Given the description of an element on the screen output the (x, y) to click on. 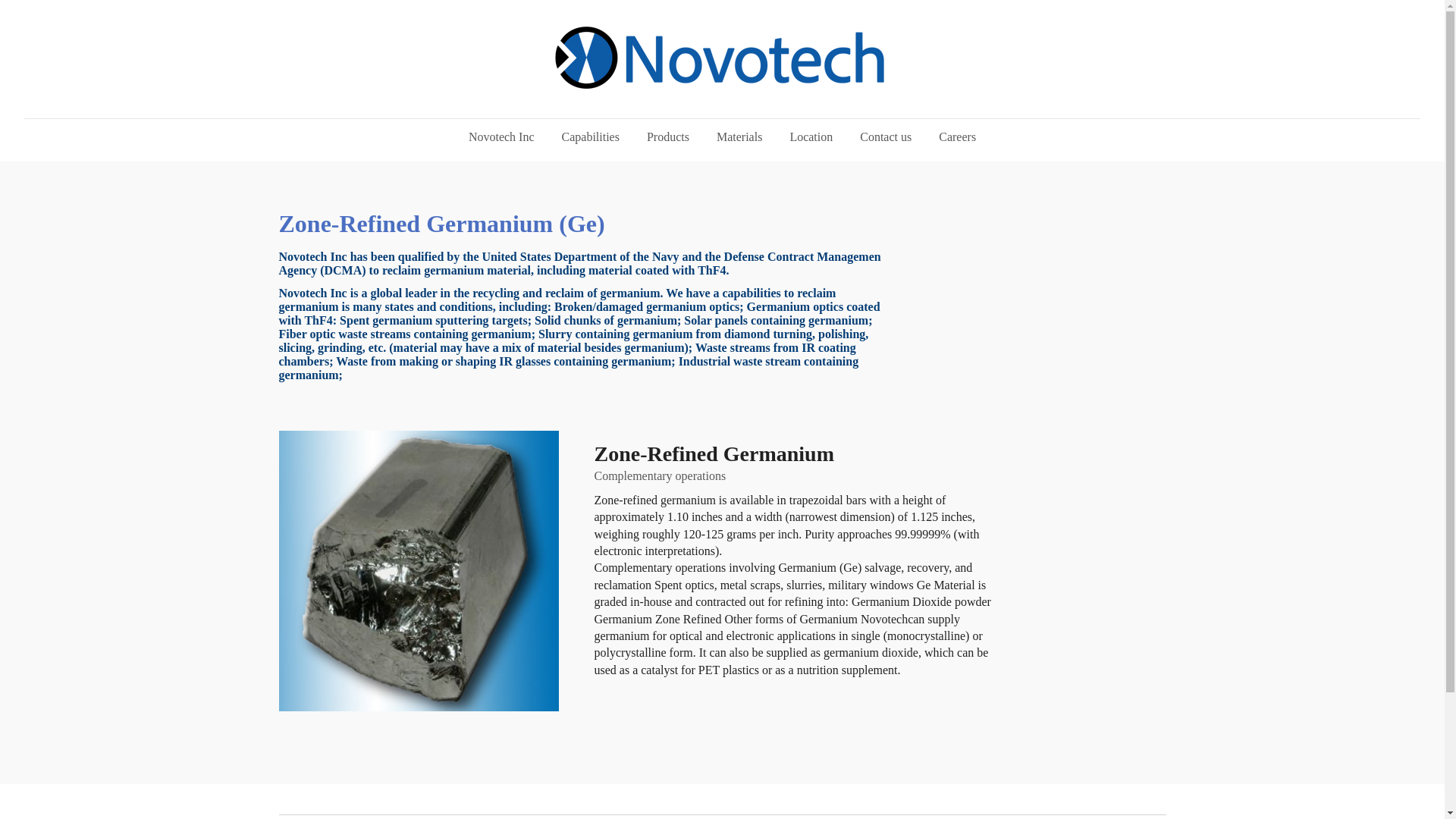
Contact us (885, 137)
Careers (957, 137)
Materials (739, 137)
Novotech Inc (502, 137)
Location (810, 137)
Products (667, 137)
Capabilities (590, 137)
